Given the description of an element on the screen output the (x, y) to click on. 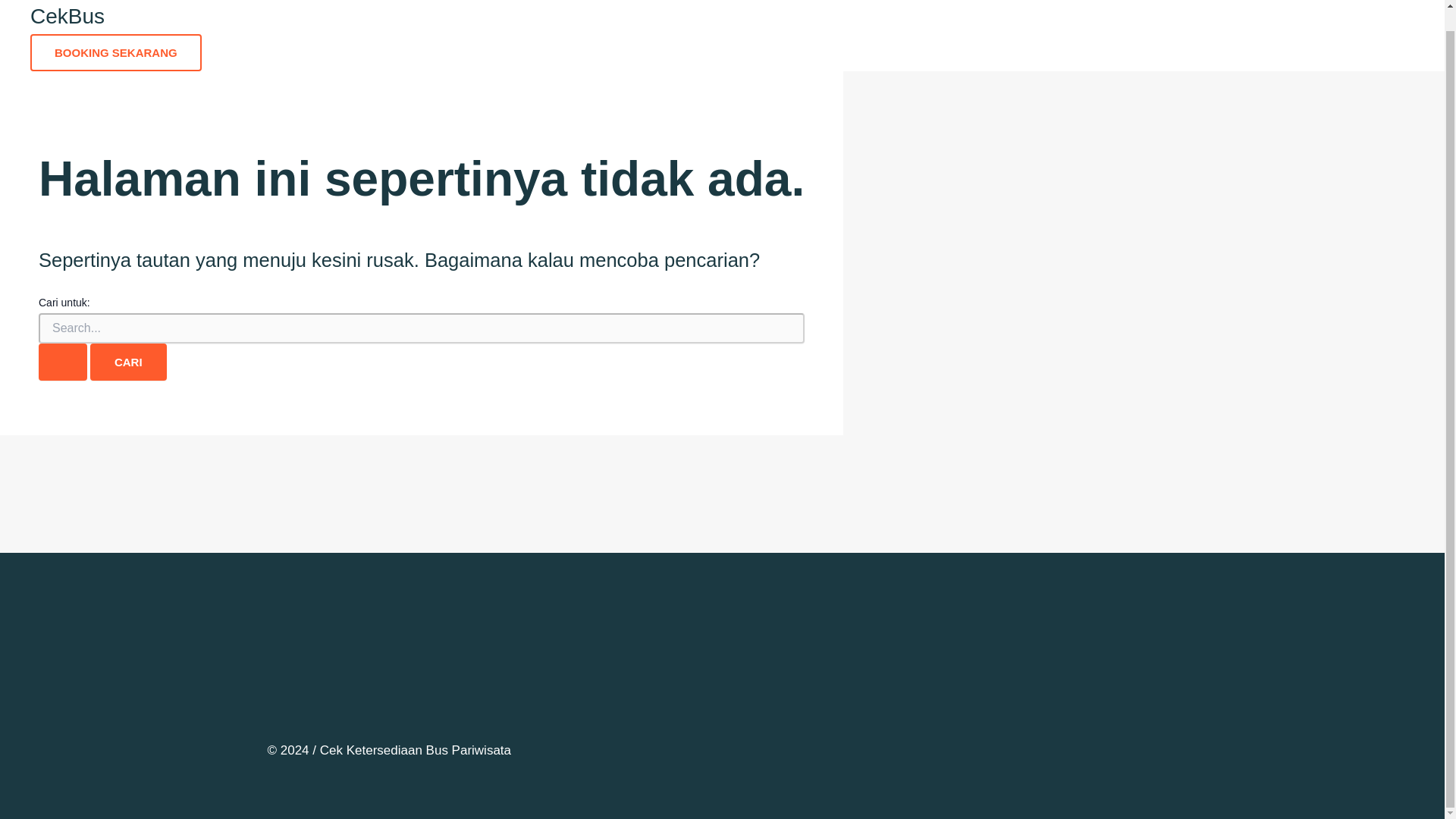
Cari (128, 361)
BOOKING SEKARANG (116, 52)
Cari (128, 361)
Cari (128, 361)
CekBus (67, 15)
